Given the description of an element on the screen output the (x, y) to click on. 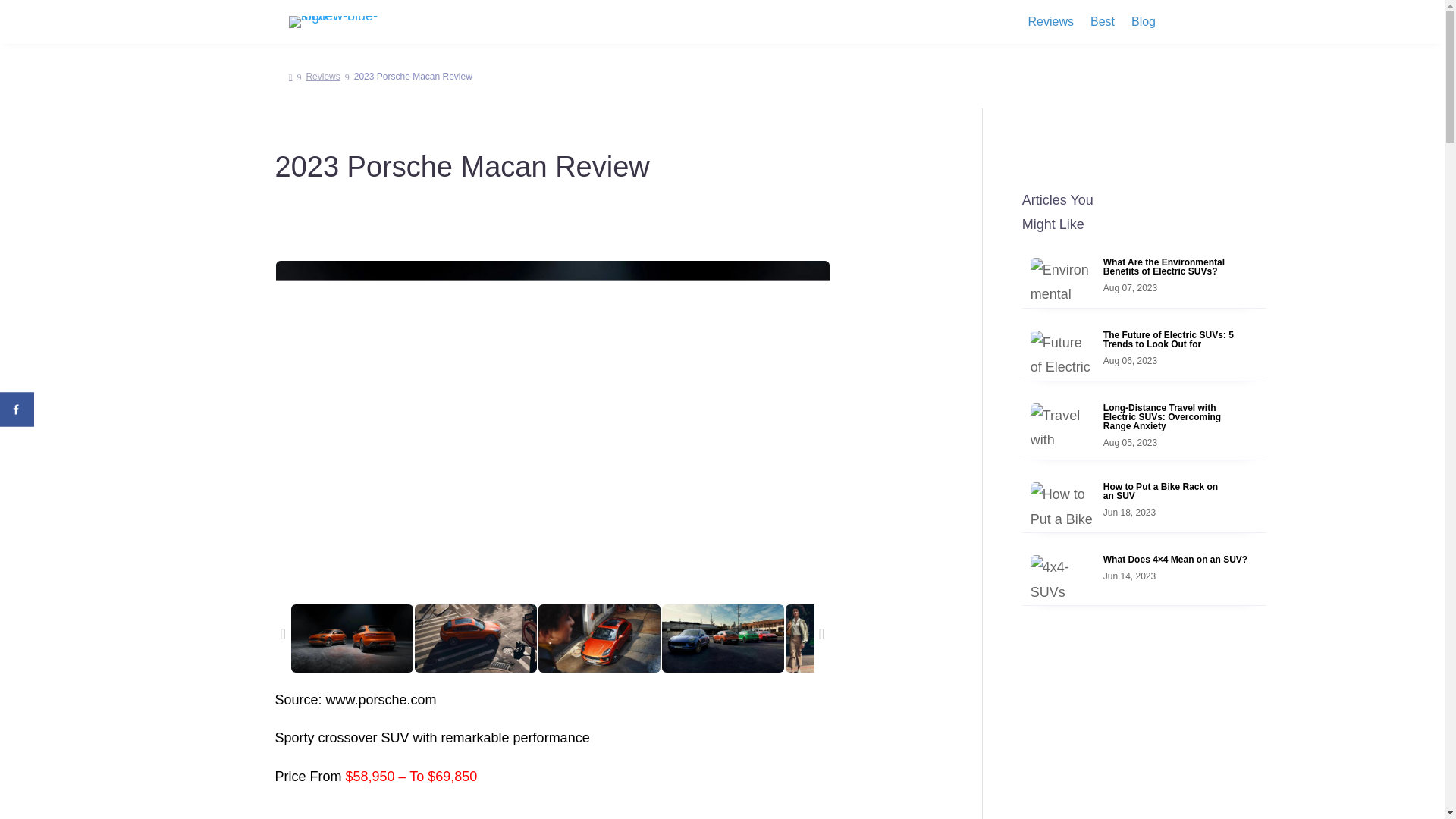
Reviews (1050, 24)
Share on Facebook (1144, 507)
suview-blue-logo (16, 409)
Reviews (336, 21)
Best (324, 76)
Blog (1102, 24)
